Given the description of an element on the screen output the (x, y) to click on. 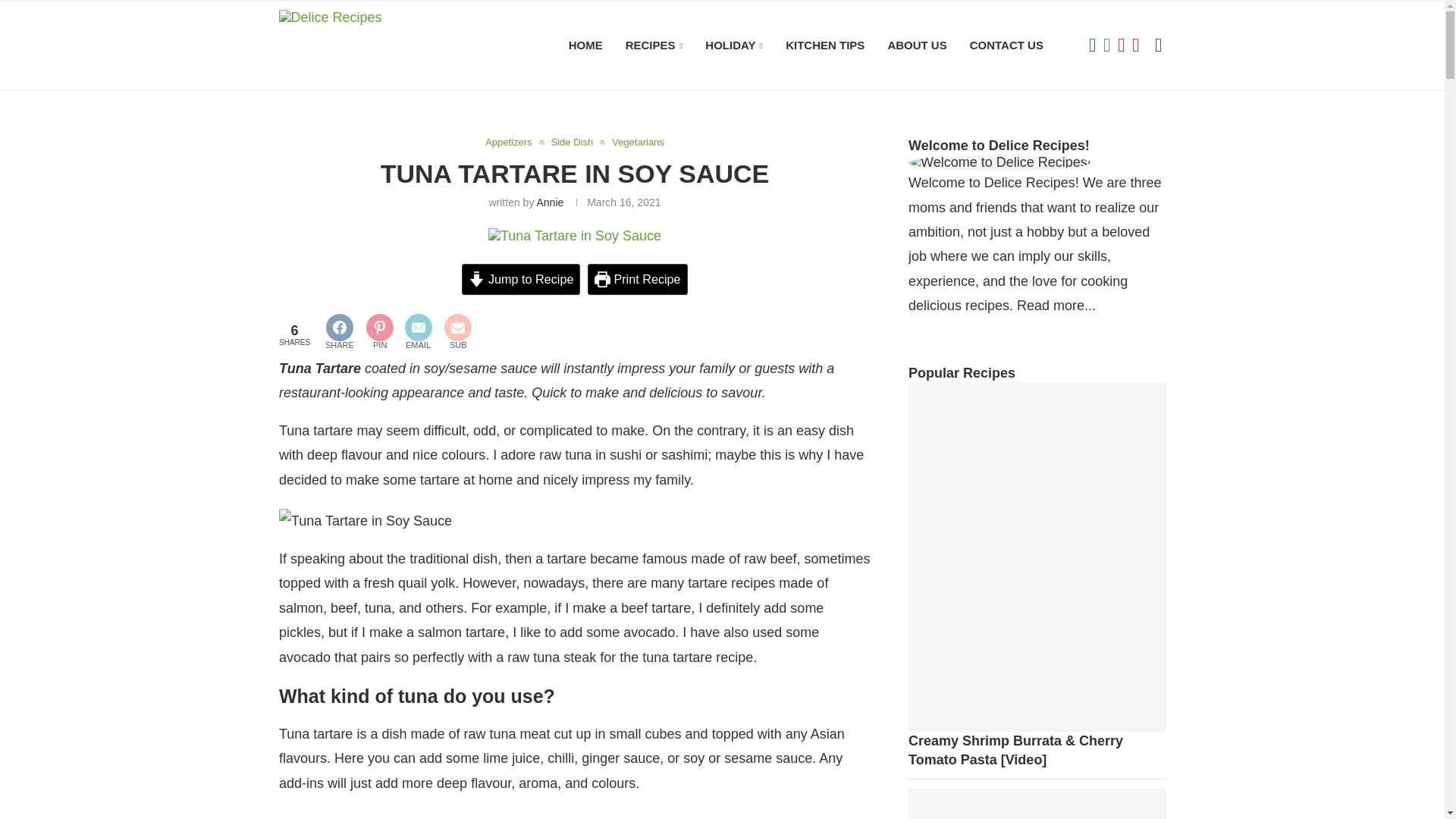
Annie (549, 202)
Vegetarians (637, 142)
Side Dish (574, 142)
Share on Email (417, 334)
Share on Share (339, 334)
Appetizers (511, 142)
